Given the description of an element on the screen output the (x, y) to click on. 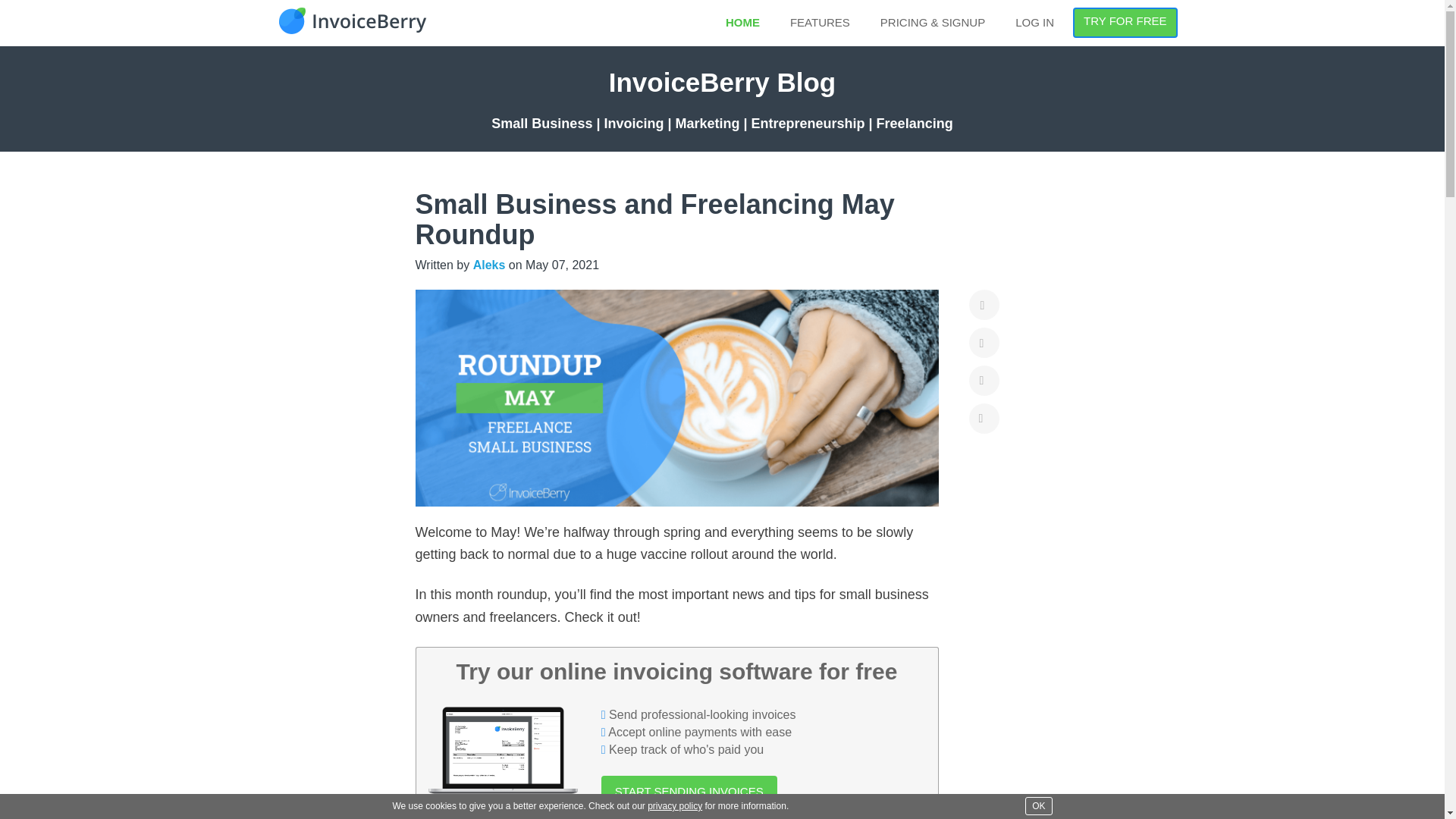
Aleks (489, 264)
START SENDING INVOICES (689, 790)
Share on Twitter (983, 342)
HOME (742, 22)
Share via Email (983, 418)
InvoiceBerry Blog (721, 81)
FEATURES (819, 22)
LOG IN (1034, 22)
TRY FOR FREE (1124, 22)
Share on Facebook (983, 304)
